Given the description of an element on the screen output the (x, y) to click on. 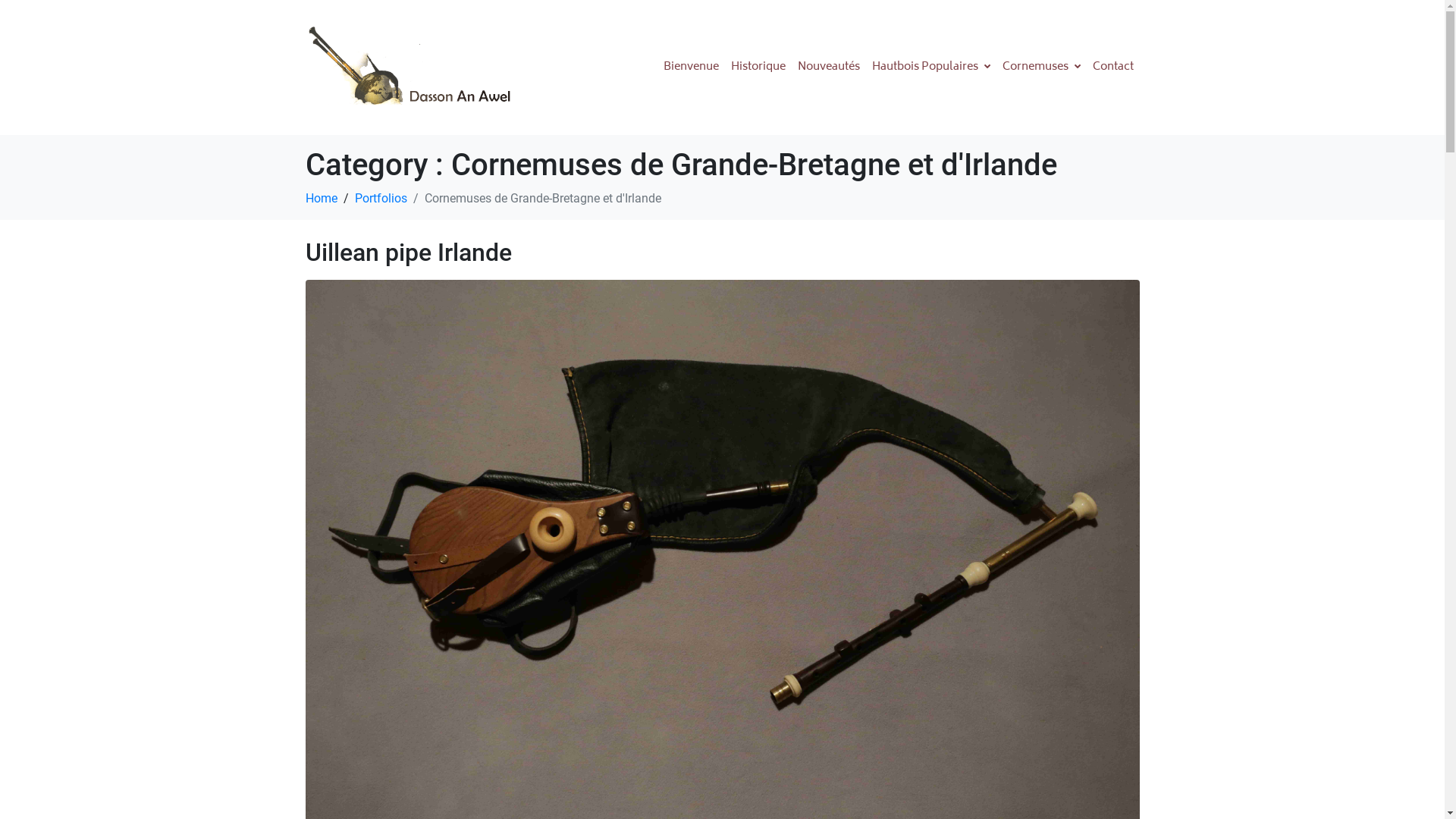
Cornemuses Element type: text (1041, 67)
Uillean pipe Irlande Element type: text (407, 252)
Home Element type: text (320, 198)
Portfolios Element type: text (380, 198)
Historique Element type: text (757, 67)
Hautbois Populaires Element type: text (931, 67)
Uillean pipe Irlande Element type: hover (721, 556)
Contact Element type: text (1112, 67)
Bienvenue Element type: text (690, 67)
